Given the description of an element on the screen output the (x, y) to click on. 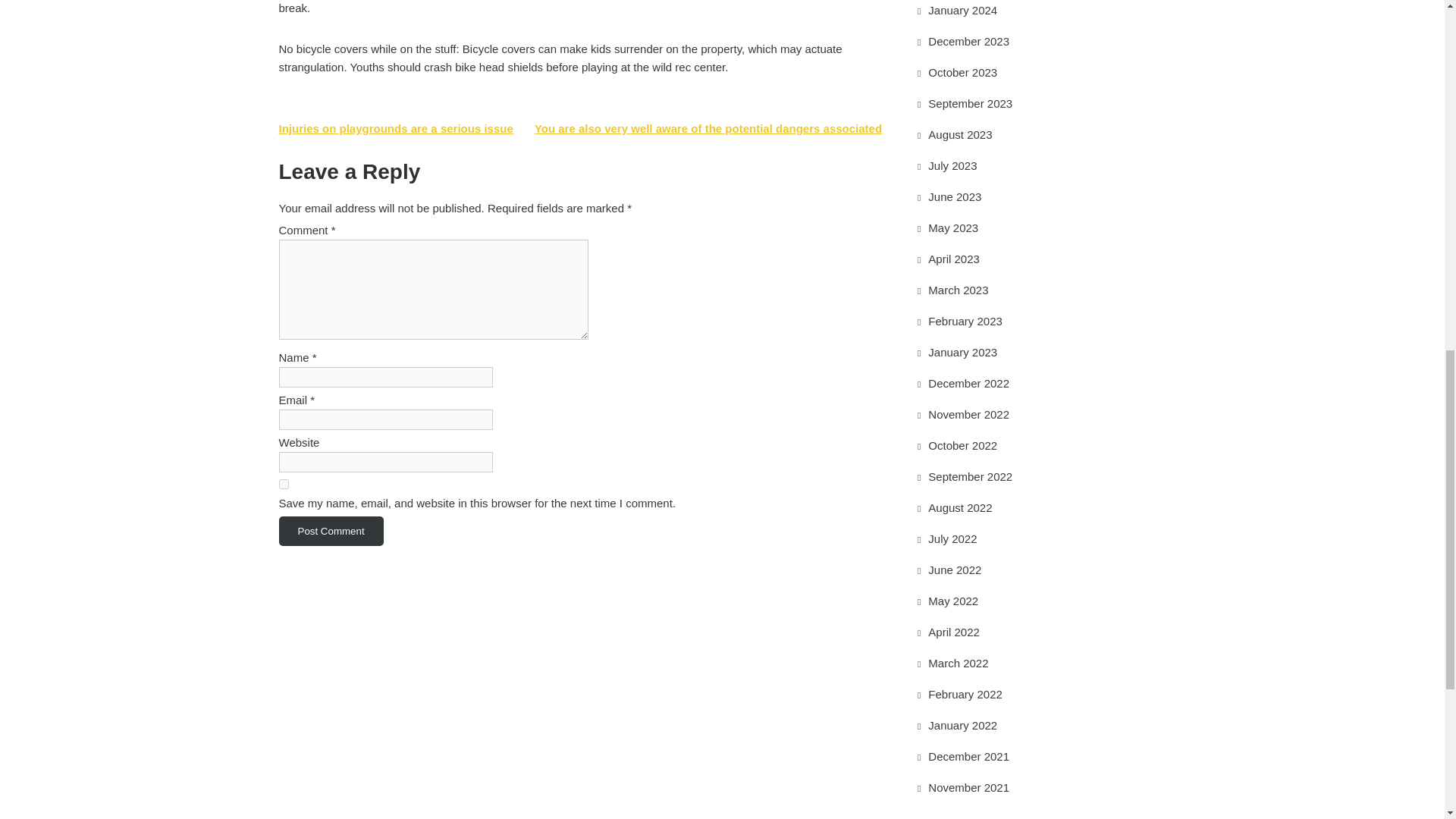
October 2023 (962, 72)
Post Comment (331, 531)
December 2023 (968, 41)
June 2023 (954, 196)
August 2023 (959, 133)
January 2024 (962, 10)
Post Comment (331, 531)
yes (283, 483)
September 2023 (969, 103)
Injuries on playgrounds are a serious issue (396, 128)
